Given the description of an element on the screen output the (x, y) to click on. 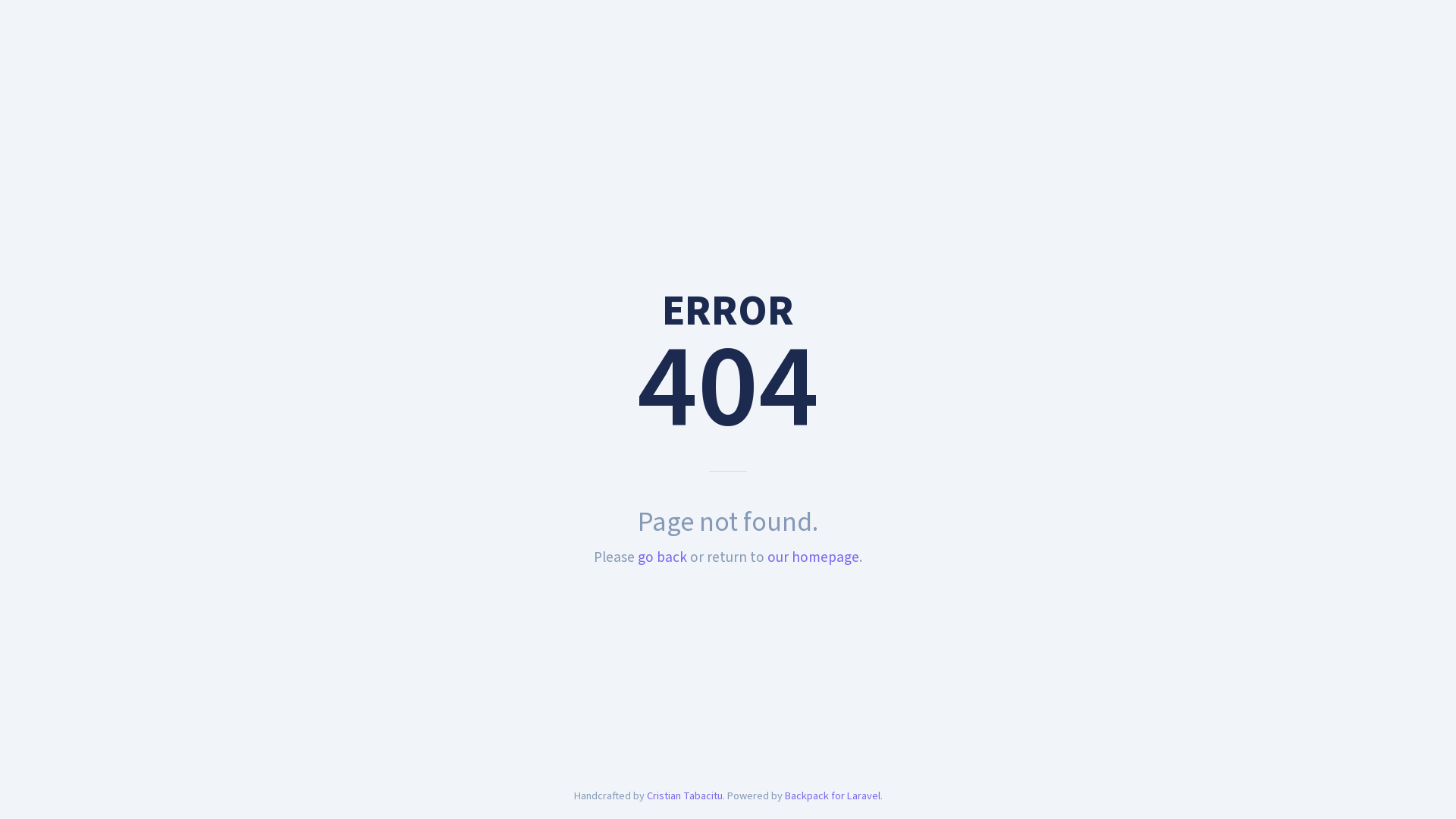
go back Element type: text (662, 556)
Backpack for Laravel Element type: text (831, 795)
our homepage Element type: text (813, 556)
Cristian Tabacitu Element type: text (683, 795)
